Given the description of an element on the screen output the (x, y) to click on. 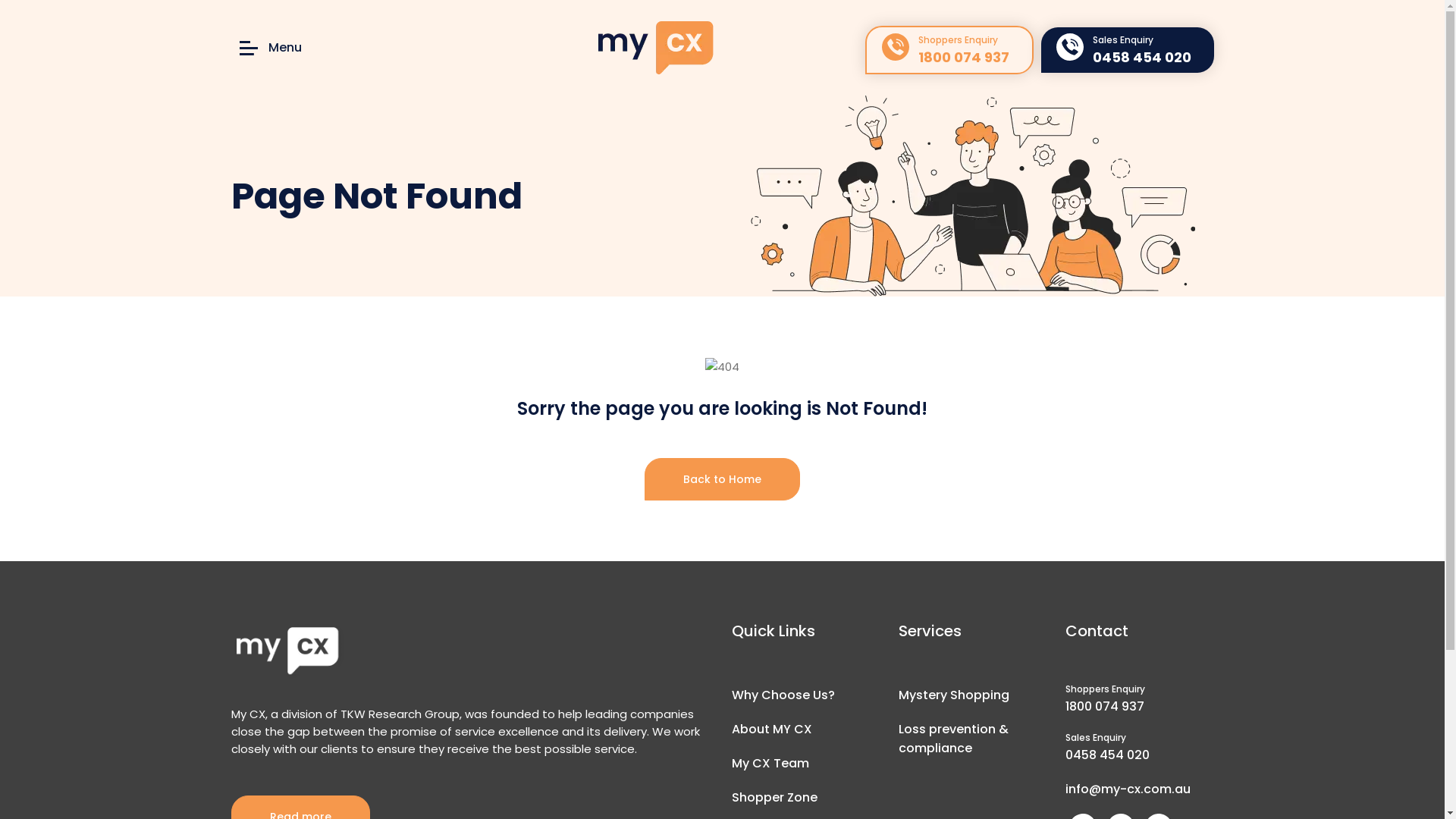
Logo Element type: hover (287, 651)
Menu Element type: text (269, 47)
Loss prevention & compliance Element type: text (952, 738)
Shoppers Enquiry
1800 074 937 Element type: text (948, 49)
0458 454 020 Element type: text (1106, 754)
Why Choose Us? Element type: text (782, 694)
My CX Team Element type: text (769, 762)
info@my-cx.com.au Element type: text (1126, 788)
About MY CX Element type: text (771, 728)
Back to Home Element type: text (722, 479)
1800 074 937 Element type: text (1103, 706)
Mystery Shopping Element type: text (952, 694)
Sales Enquiry
0458 454 020 Element type: text (1126, 49)
Shopper Zone Element type: text (773, 797)
